Given the description of an element on the screen output the (x, y) to click on. 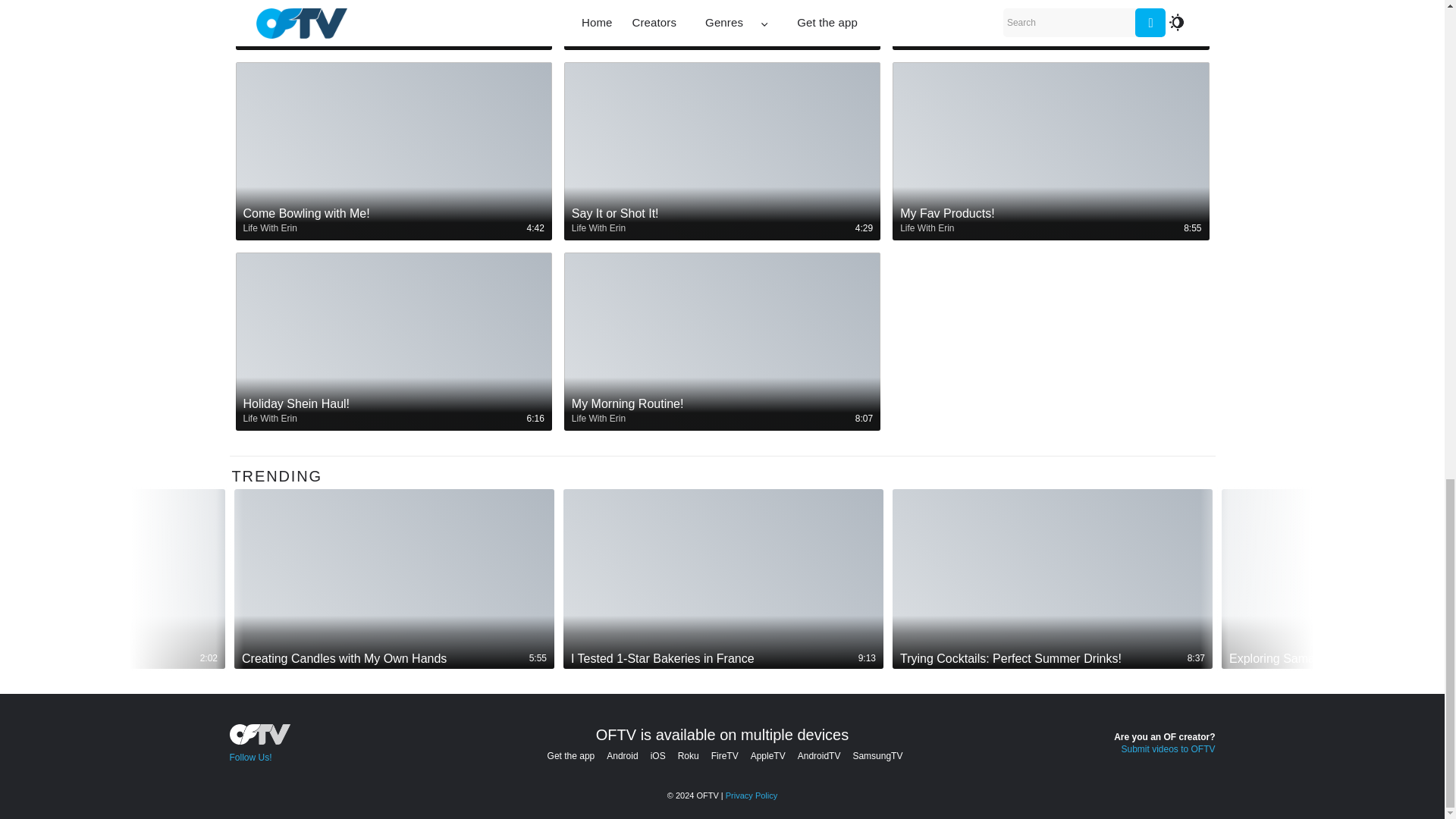
Pack with Me! (393, 23)
Life With Erin (270, 38)
Life With Erin (599, 38)
Say It or Shot It Ft Rosa! (722, 23)
Say It or Shot It Ft Rosa! (722, 30)
Pack with Me! (393, 30)
